Given the description of an element on the screen output the (x, y) to click on. 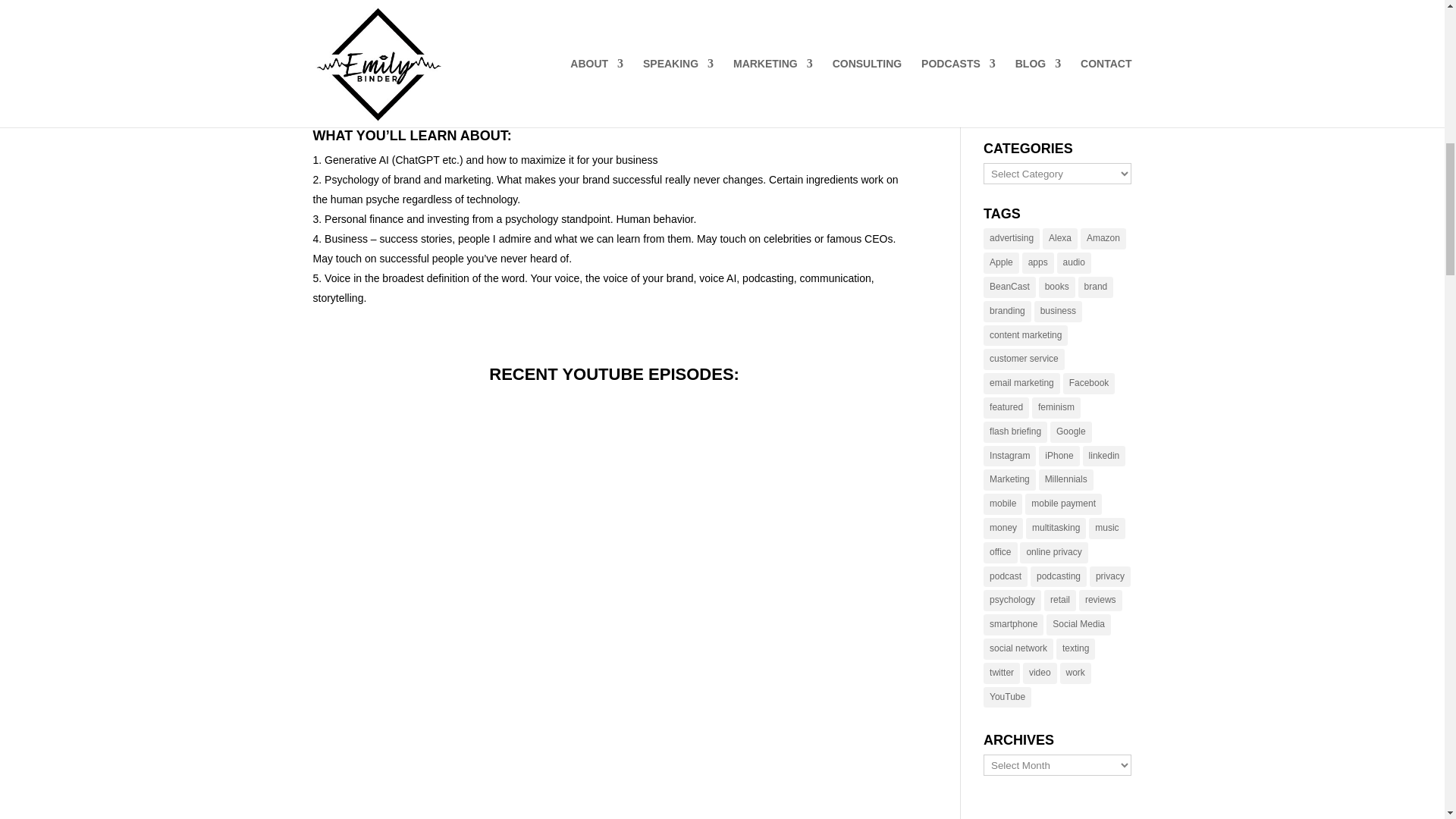
the biggest mistake most podcasters make (453, 21)
YouTube video player (524, 550)
podcast-logo-voice-marketing-with-emily-binder-500x500 (772, 43)
episodes (363, 0)
YouTube video player (524, 755)
